Given the description of an element on the screen output the (x, y) to click on. 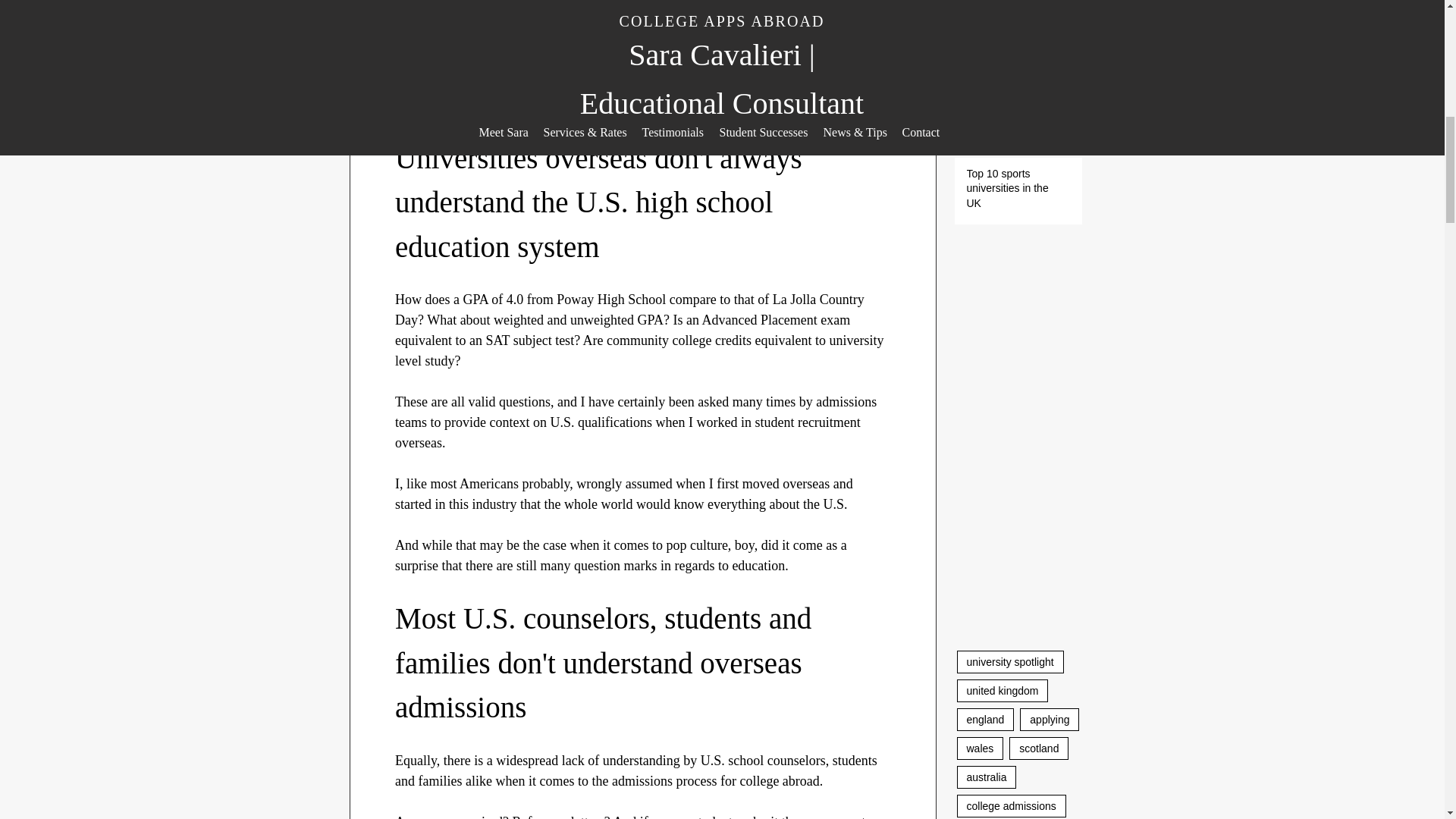
university spotlight (1010, 661)
australia (986, 776)
wales (980, 748)
england (985, 719)
Top 10 sports universities in the UK (1012, 192)
applying (1049, 719)
united kingdom (1002, 690)
college admissions (1010, 805)
scotland (1038, 748)
